Given the description of an element on the screen output the (x, y) to click on. 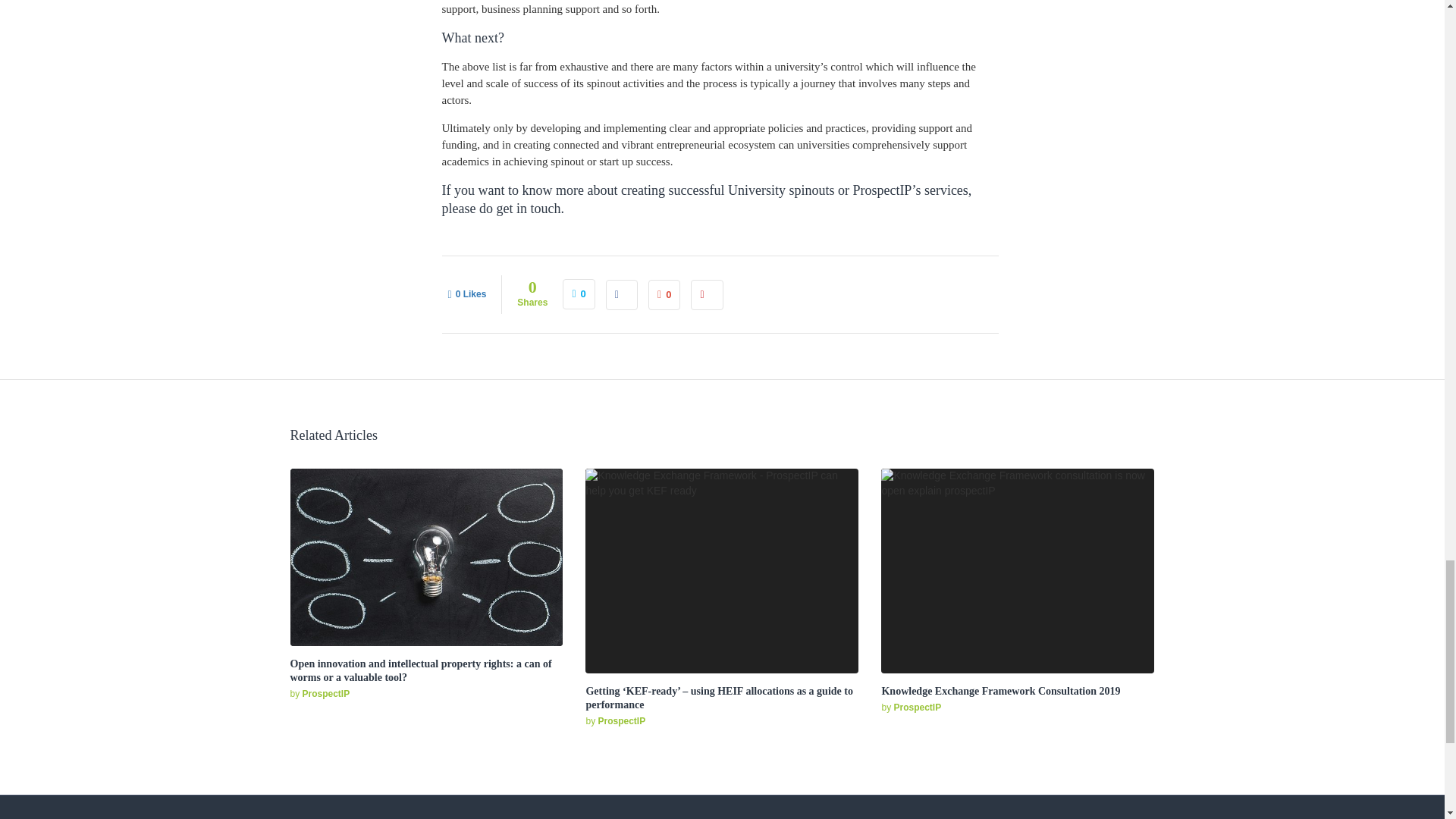
0 (663, 295)
0 Likes (466, 293)
0 (578, 294)
